Given the description of an element on the screen output the (x, y) to click on. 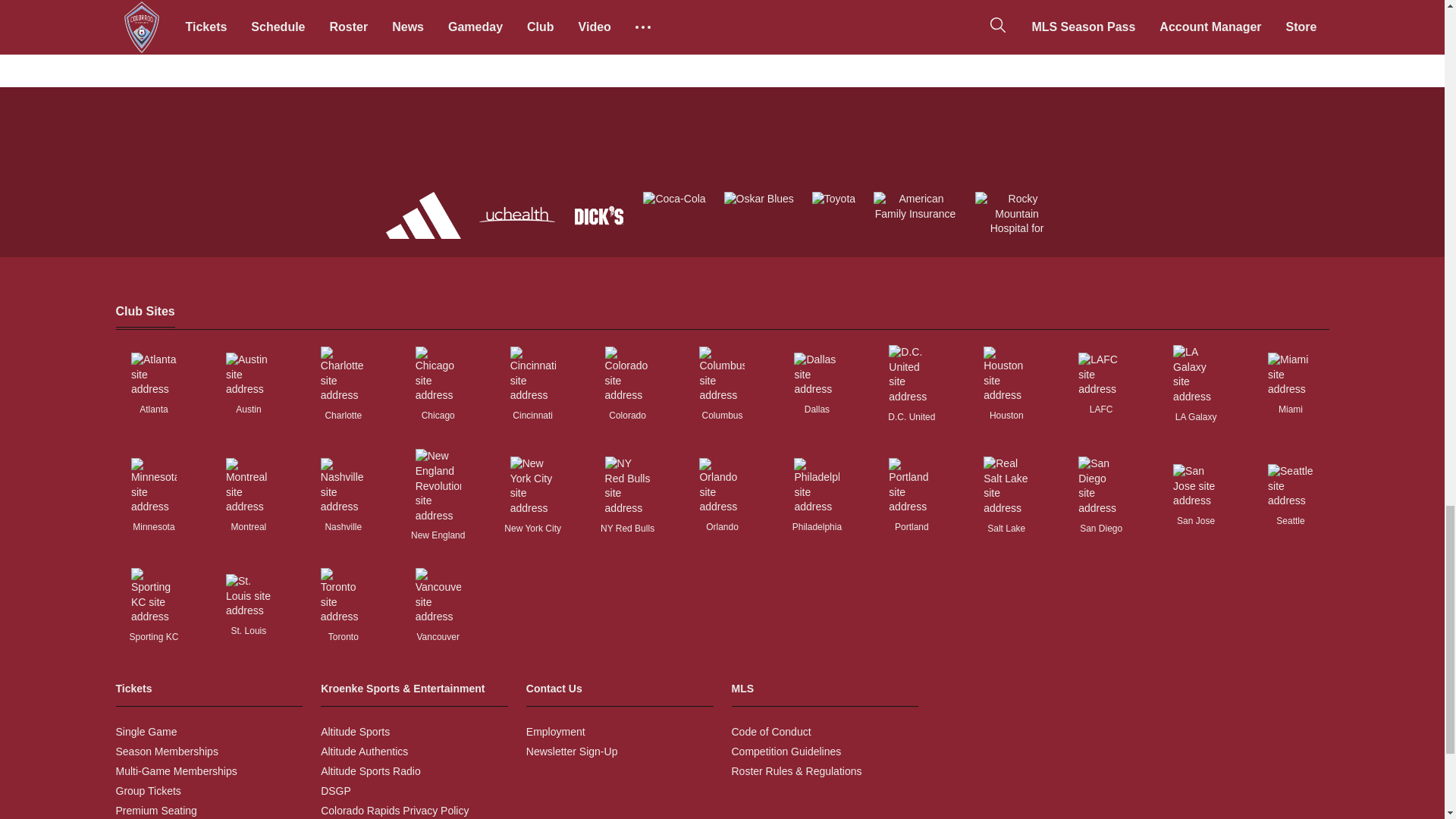
Link to Austin (247, 374)
Link to Dallas (816, 374)
Link to Atlanta (153, 374)
Link to Miami (1290, 374)
Link to LAFC (1101, 374)
